Given the description of an element on the screen output the (x, y) to click on. 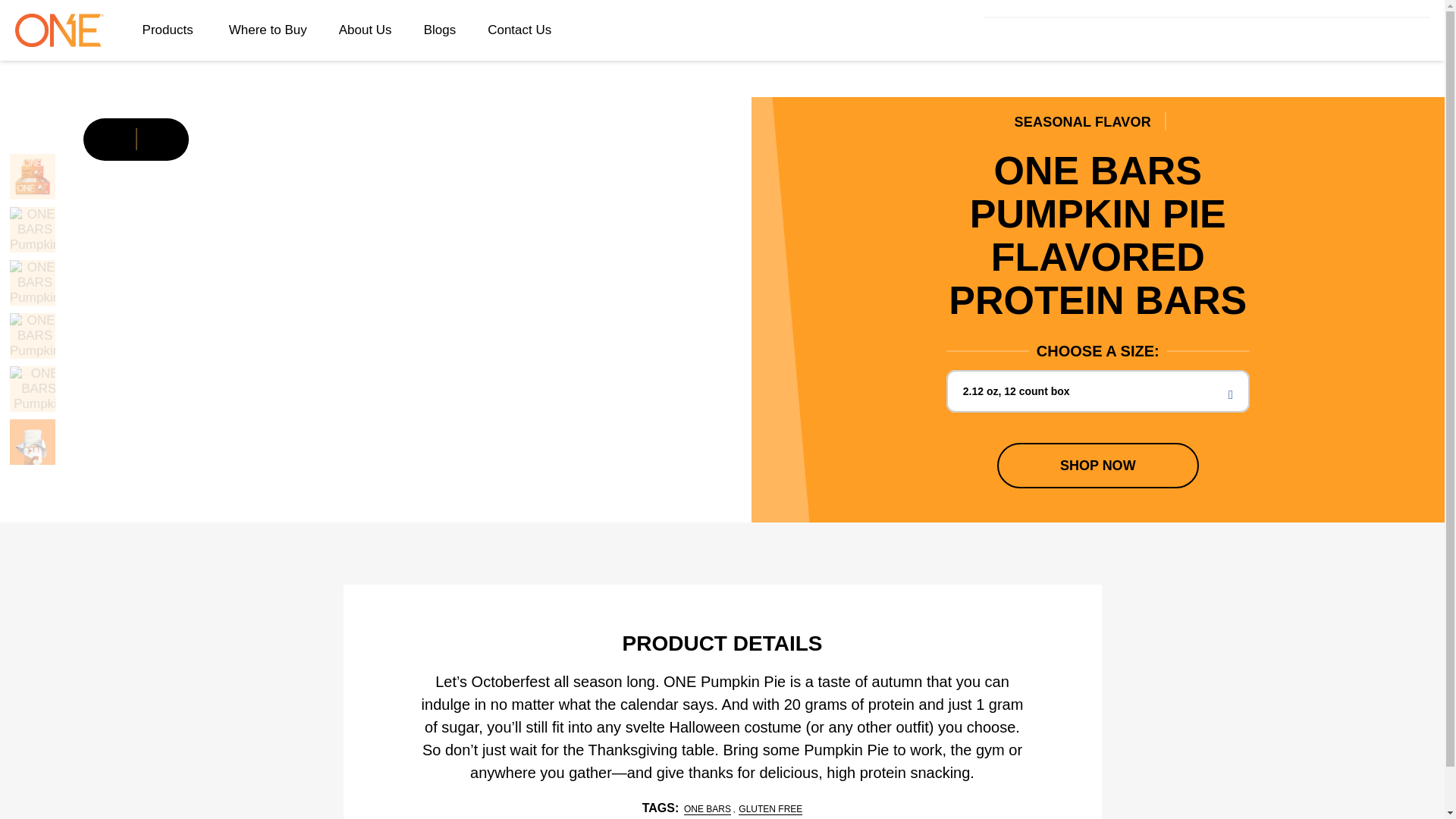
SHOP NOW (1097, 465)
Where to Buy (267, 29)
About Us (365, 29)
Products (169, 29)
Contact Us (519, 29)
Blogs (440, 29)
